Given the description of an element on the screen output the (x, y) to click on. 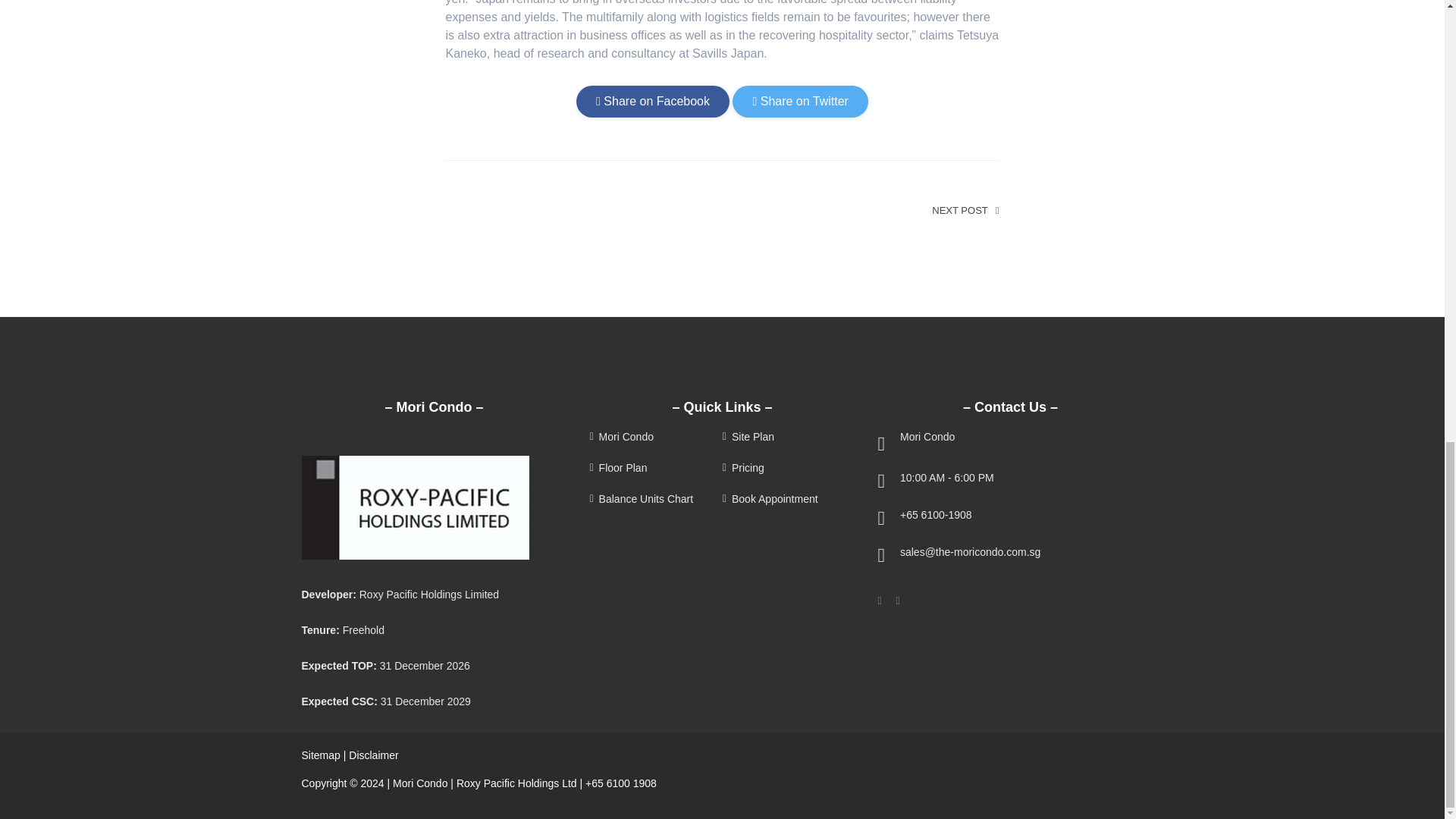
Share on Twitter (799, 101)
NEXT POST (964, 210)
Mori Condo (654, 436)
Share on Facebook (652, 101)
Balance Units Chart (654, 499)
Site Plan (786, 436)
Pricing (786, 468)
Floor Plan (654, 468)
